Given the description of an element on the screen output the (x, y) to click on. 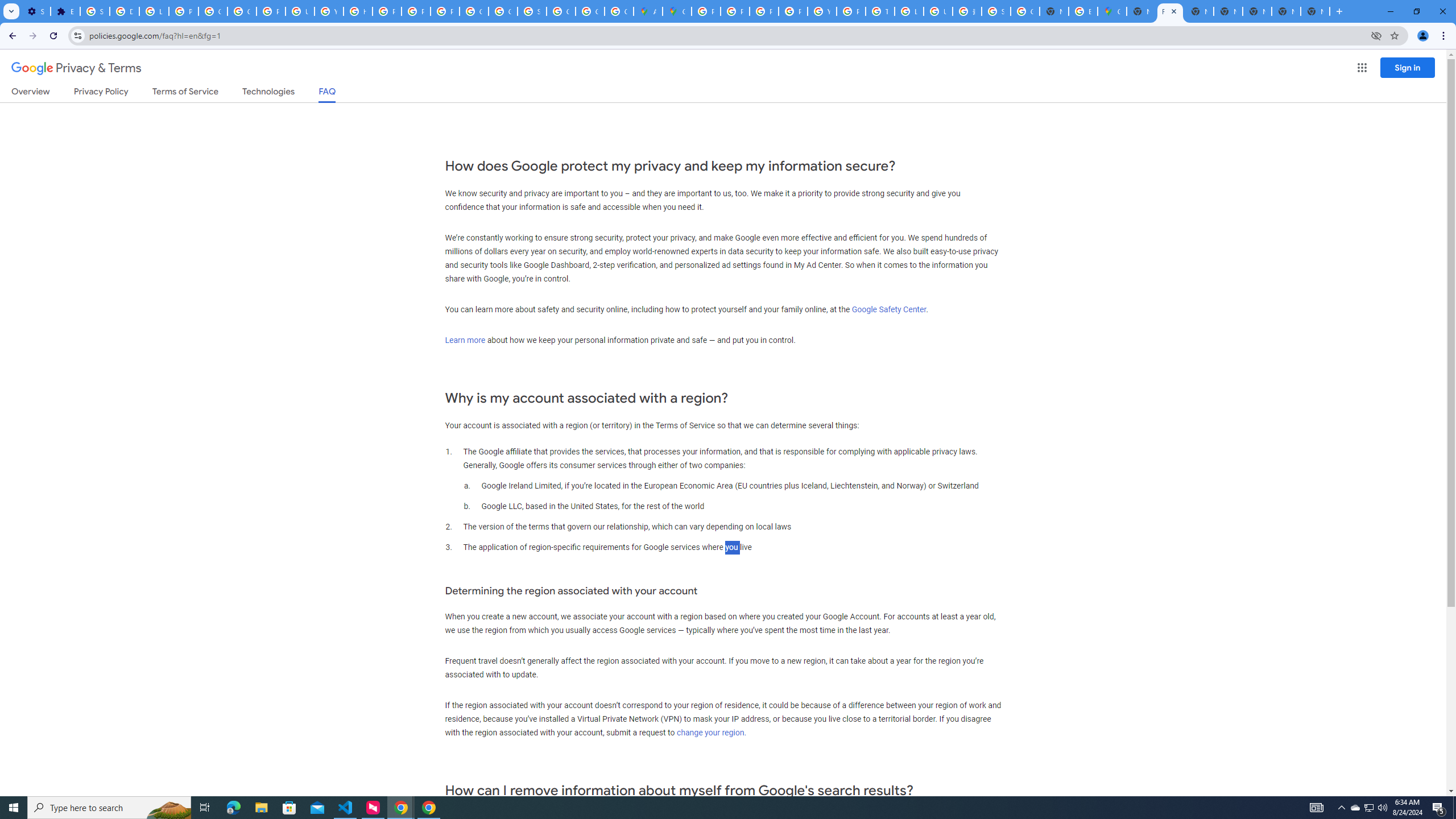
Learn more (465, 339)
Delete photos & videos - Computer - Google Photos Help (124, 11)
YouTube (821, 11)
Sign in - Google Accounts (531, 11)
New Tab (1140, 11)
